Given the description of an element on the screen output the (x, y) to click on. 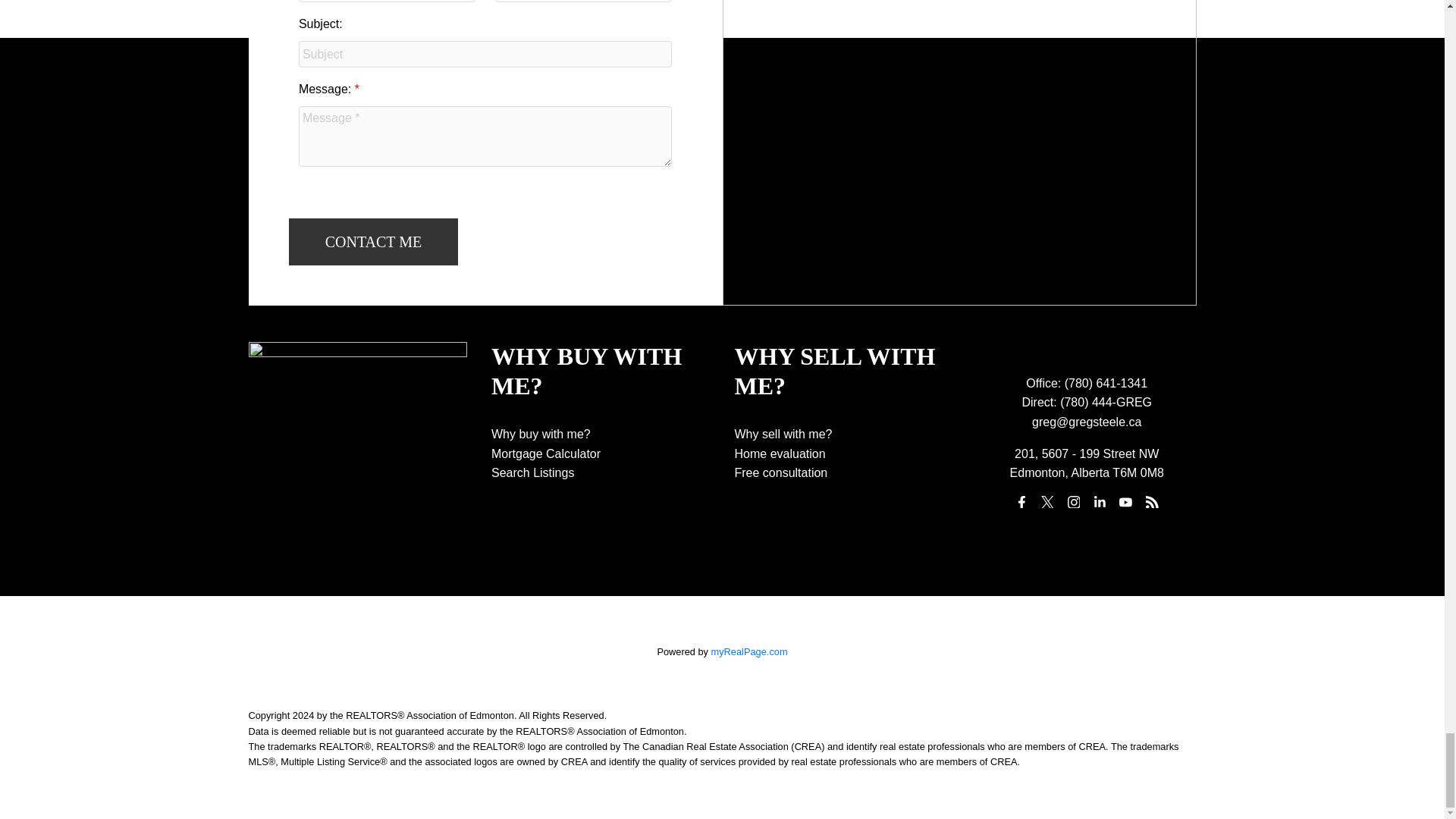
Blog (1151, 501)
Linkedin (1099, 501)
Instagram (1073, 501)
X (1047, 501)
YouTube (1126, 501)
Facebook (1021, 501)
